Given the description of an element on the screen output the (x, y) to click on. 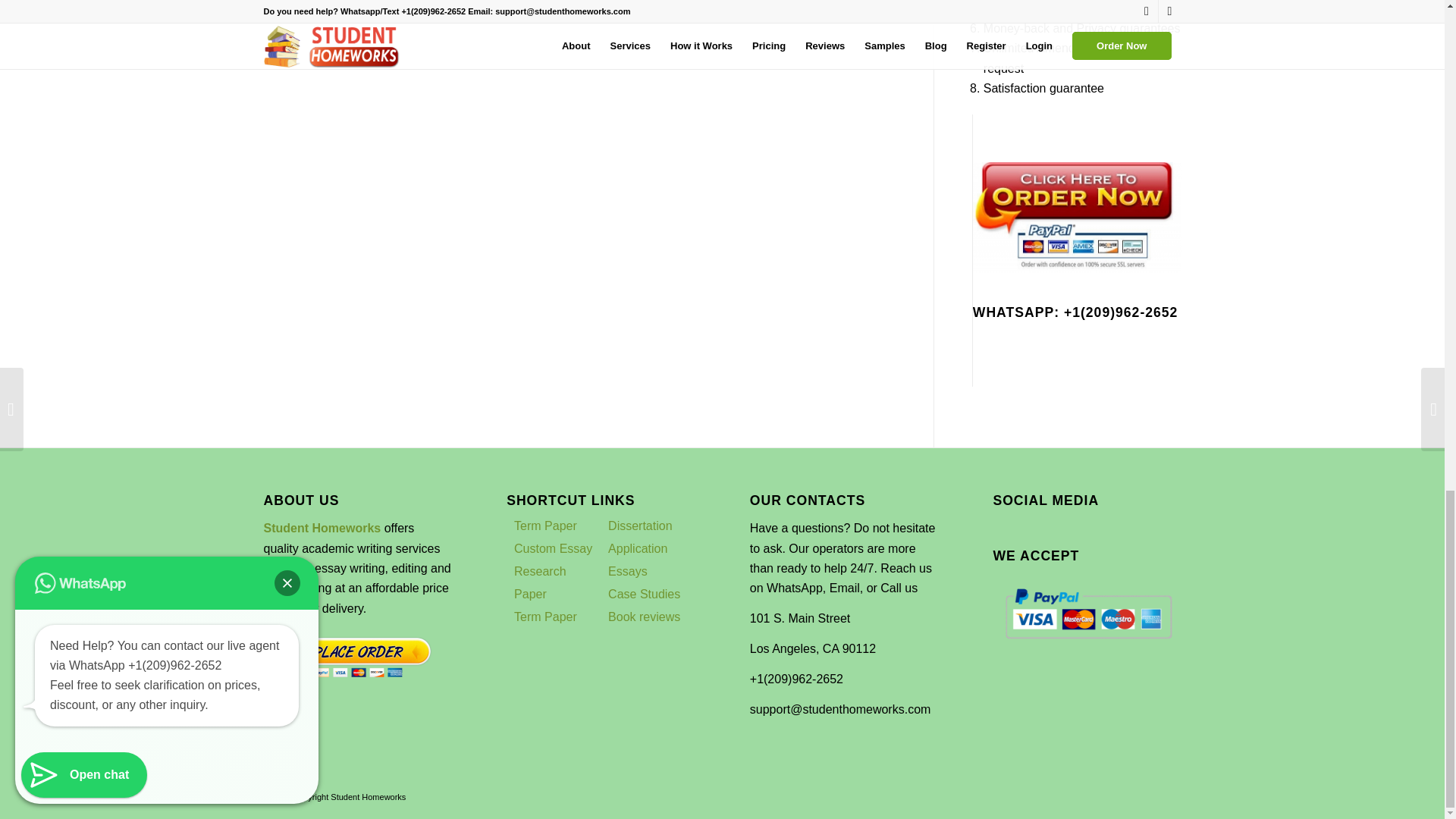
Research Paper (539, 582)
Term Paper (544, 525)
Application Essays (637, 560)
Term Paper (544, 616)
Case Studies (643, 594)
Custom Essay (552, 548)
Book reviews (643, 616)
Dissertation (639, 525)
